Given the description of an element on the screen output the (x, y) to click on. 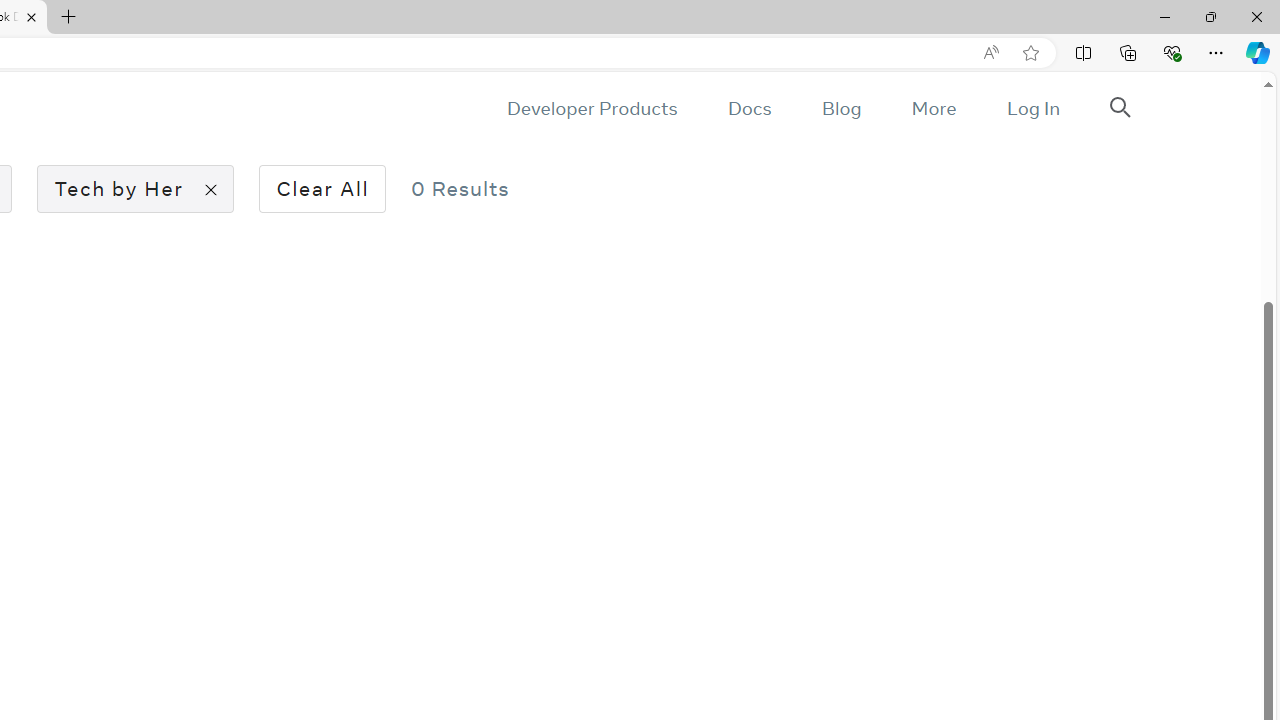
Developer Products (591, 108)
Log In (1032, 108)
More (933, 108)
